Given the description of an element on the screen output the (x, y) to click on. 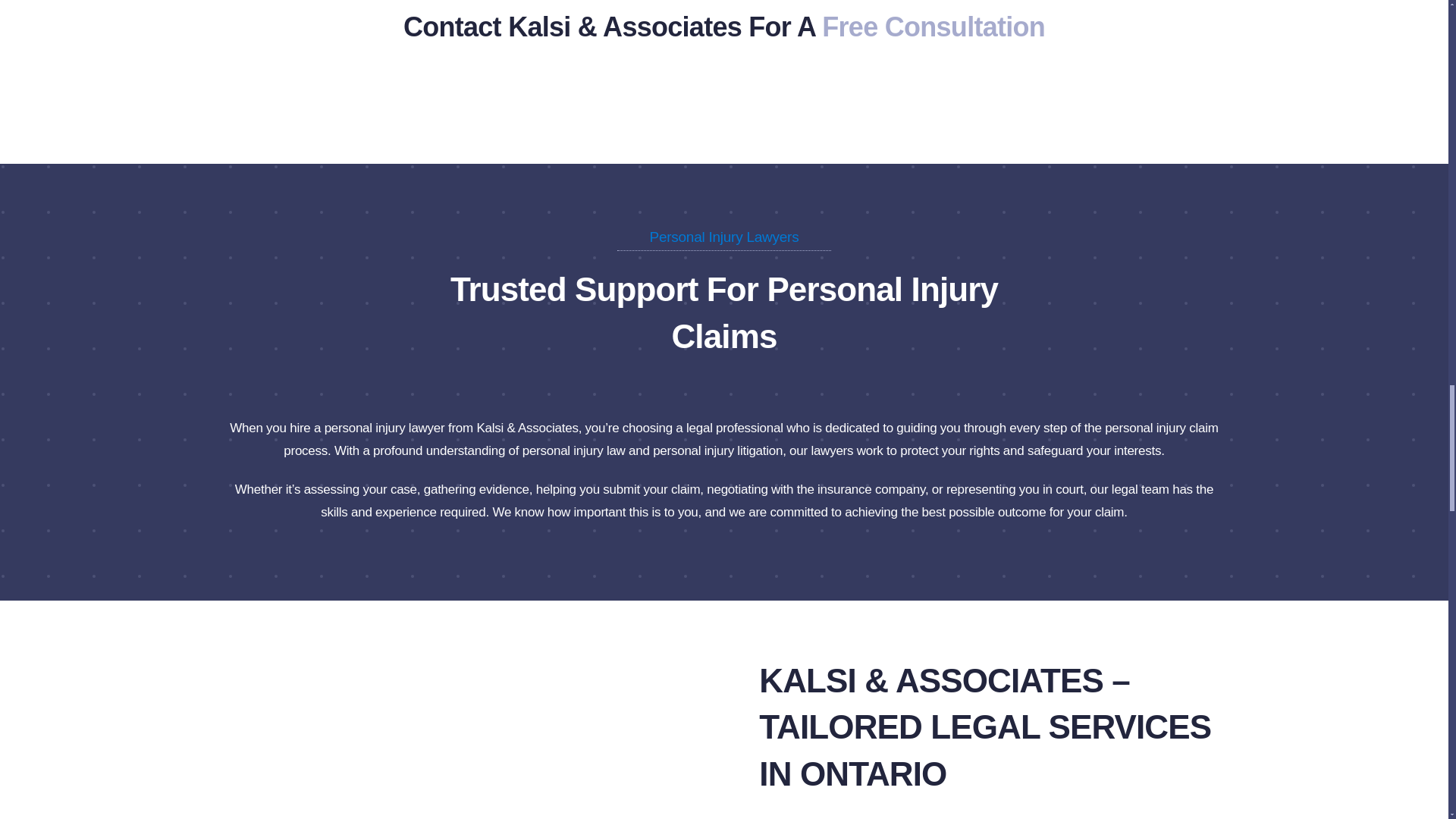
Free Consultation (933, 26)
